Given the description of an element on the screen output the (x, y) to click on. 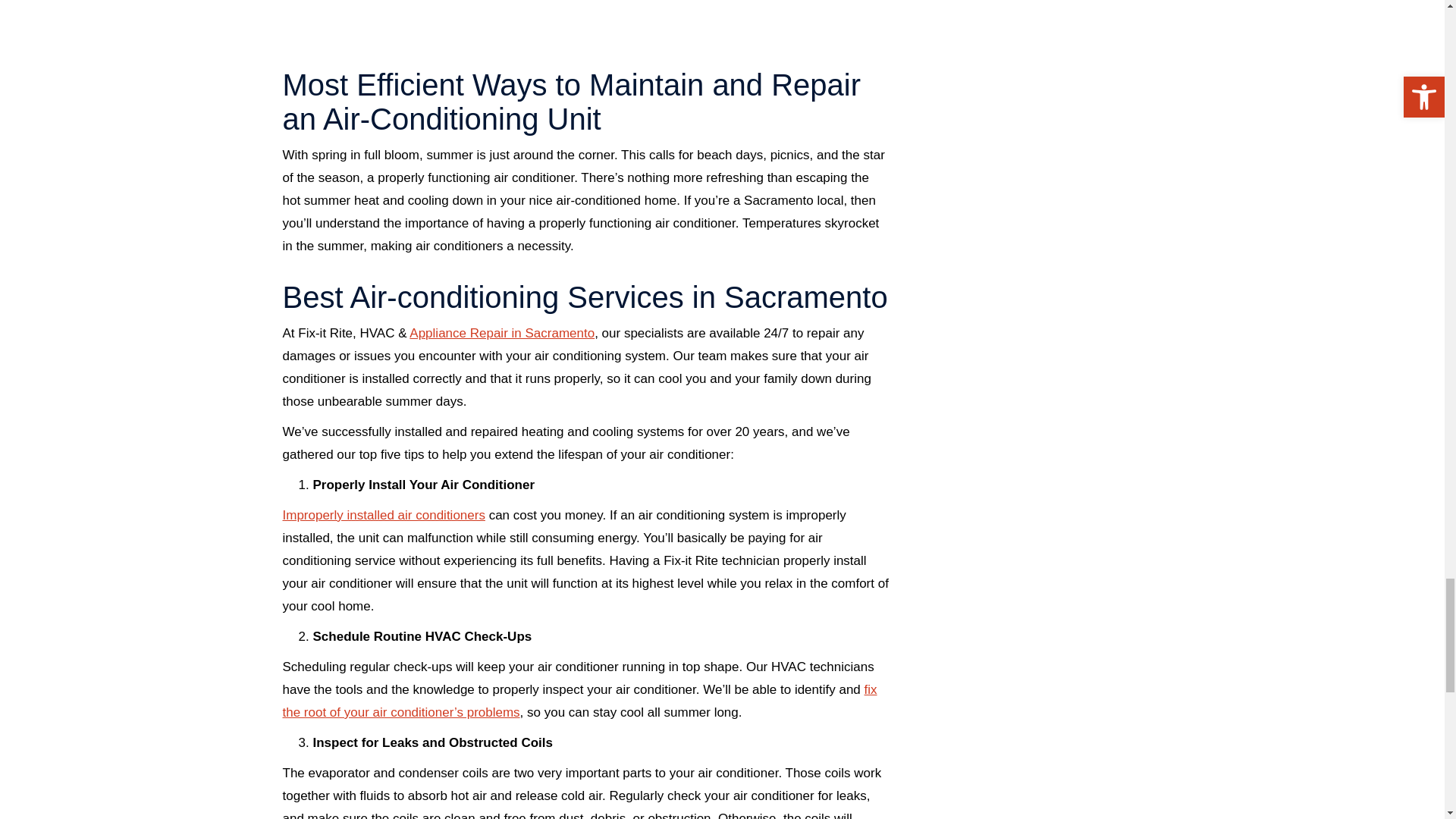
air-conditioning (585, 26)
